Given the description of an element on the screen output the (x, y) to click on. 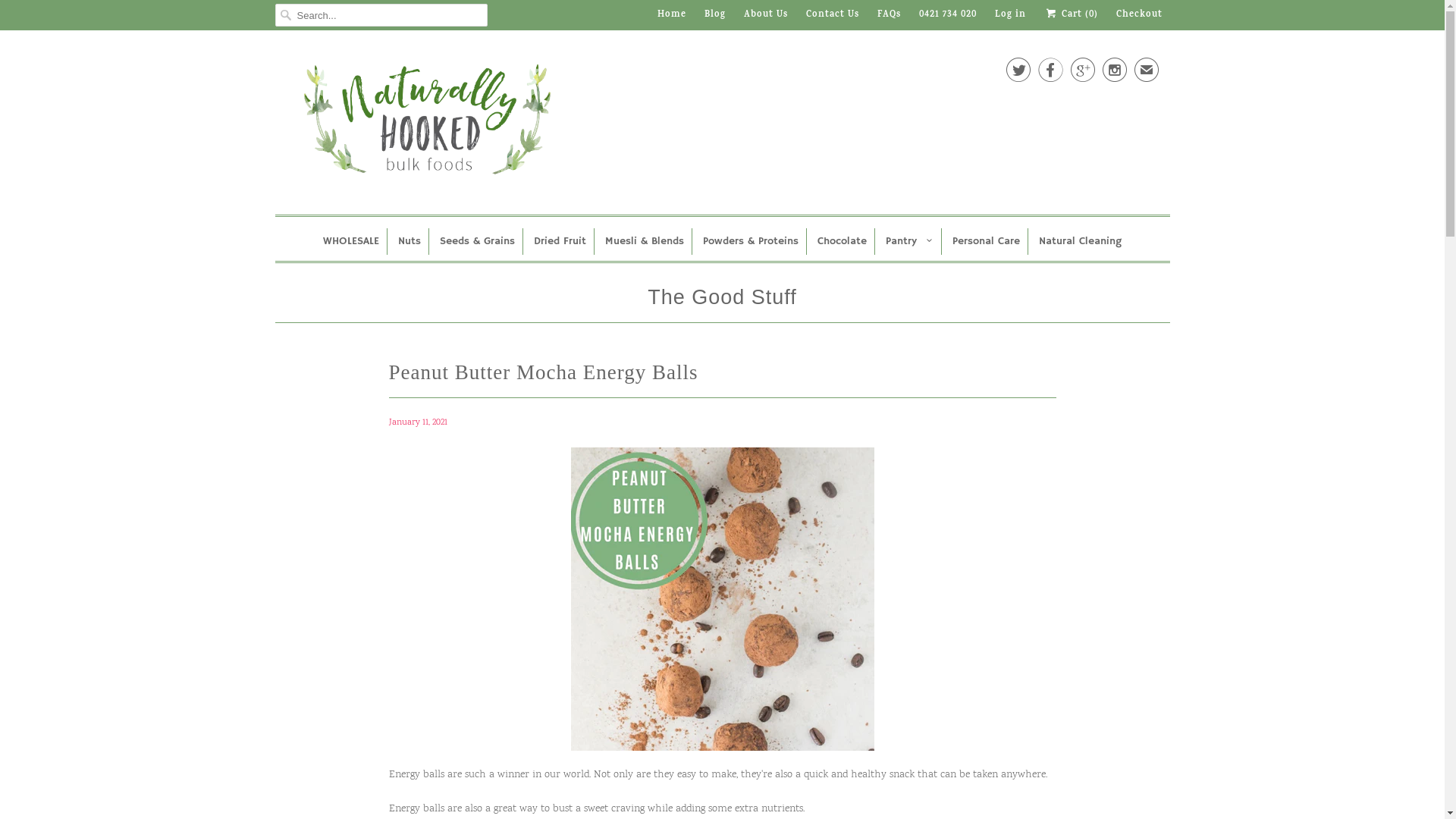
WHOLESALE Element type: text (351, 241)
0421 734 020 Element type: text (947, 14)
Muesli & Blends Element type: text (644, 241)
Pantry Element type: text (909, 241)
FAQs Element type: text (888, 14)
The Good Stuff Element type: text (721, 300)
Powders & Proteins Element type: text (750, 241)
Cart (0) Element type: text (1070, 14)
Seeds & Grains Element type: text (476, 241)
Personal Care Element type: text (985, 241)
Blog Element type: text (714, 14)
Log in Element type: text (1010, 14)
Nuts Element type: text (409, 241)
Natural Cleaning Element type: text (1079, 241)
Dried Fruit Element type: text (559, 241)
Naturally Hooked Bulk Foods Element type: hover (312, 126)
Checkout Element type: text (1139, 14)
Chocolate Element type: text (841, 241)
About Us Element type: text (765, 14)
Home Element type: text (671, 14)
Contact Us Element type: text (832, 14)
